Given the description of an element on the screen output the (x, y) to click on. 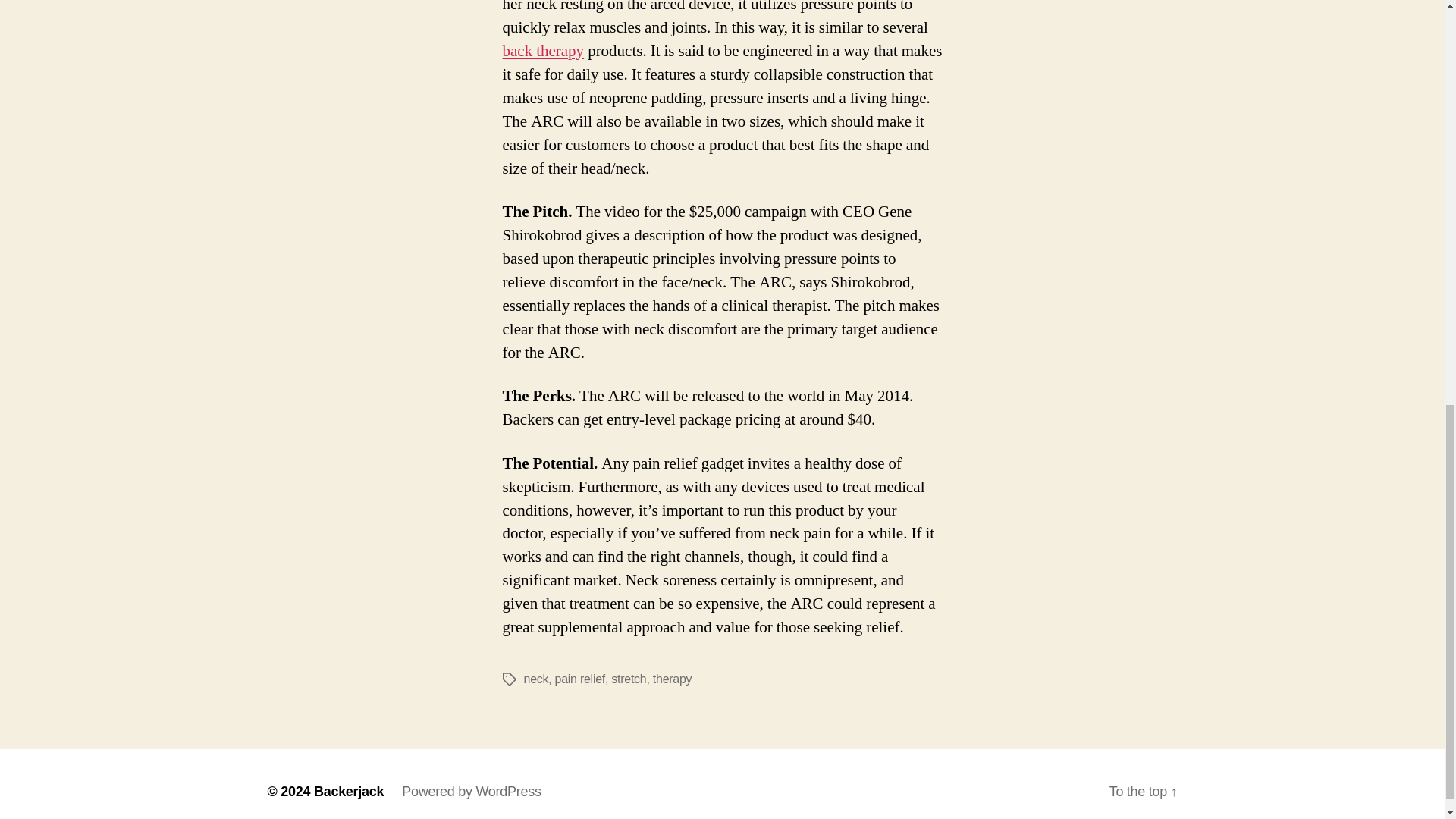
neck (535, 678)
pain relief (579, 678)
Backerjack (349, 791)
therapy (671, 678)
stretch (628, 678)
Powered by WordPress (470, 791)
back therapy (542, 50)
